Given the description of an element on the screen output the (x, y) to click on. 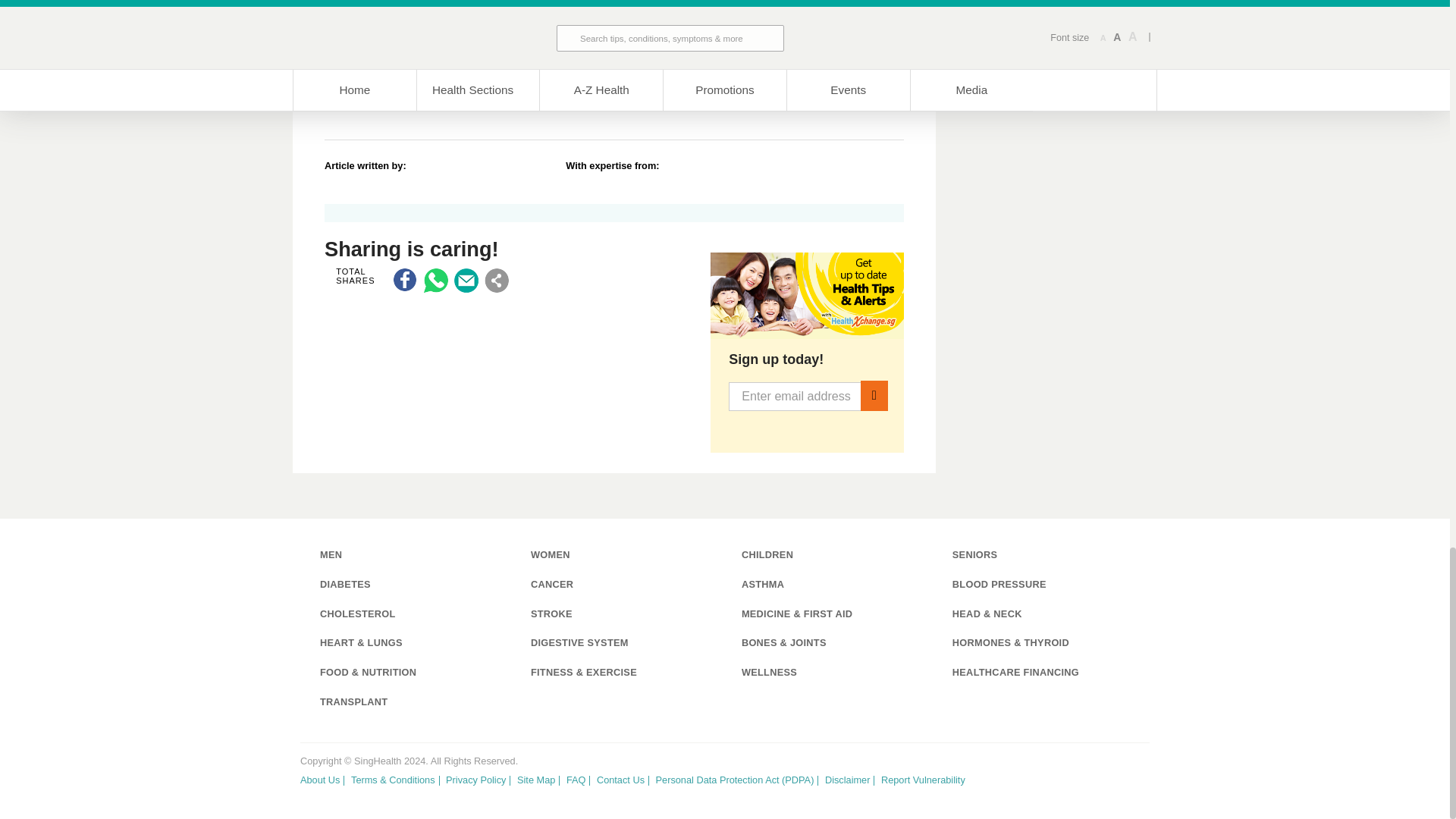
Follow us on Instagram! (1139, 775)
Follow us on Twitter! (1060, 775)
Share this Page (496, 280)
Follow us on Pinterest! (1112, 775)
Facebook (405, 280)
Email Us (466, 280)
Follow us on Facebook! (1087, 775)
WhatsApp (435, 280)
